Given the description of an element on the screen output the (x, y) to click on. 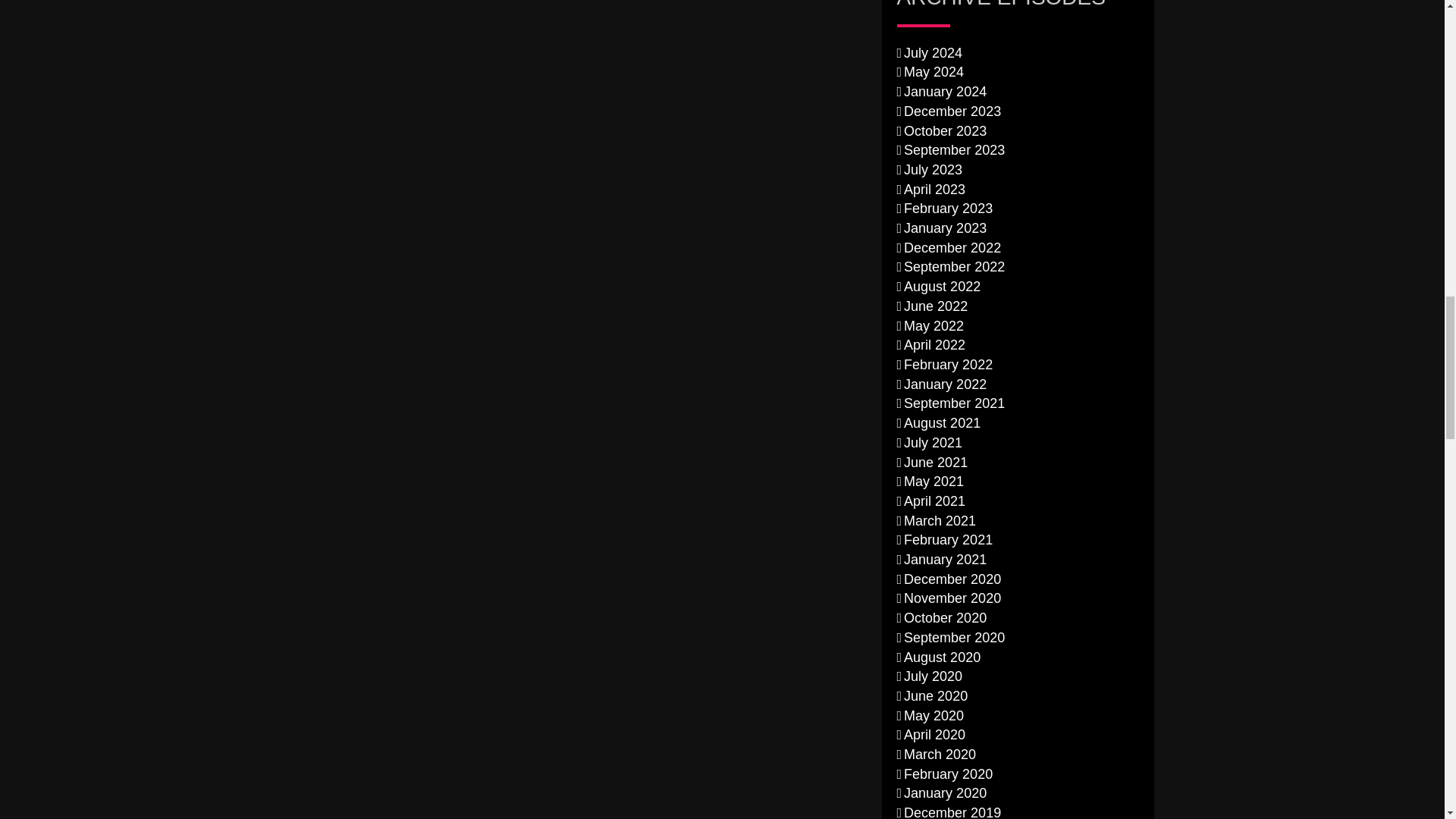
October 2023 (941, 130)
May 2024 (929, 71)
December 2023 (948, 111)
July 2024 (929, 52)
January 2024 (941, 91)
